Given the description of an element on the screen output the (x, y) to click on. 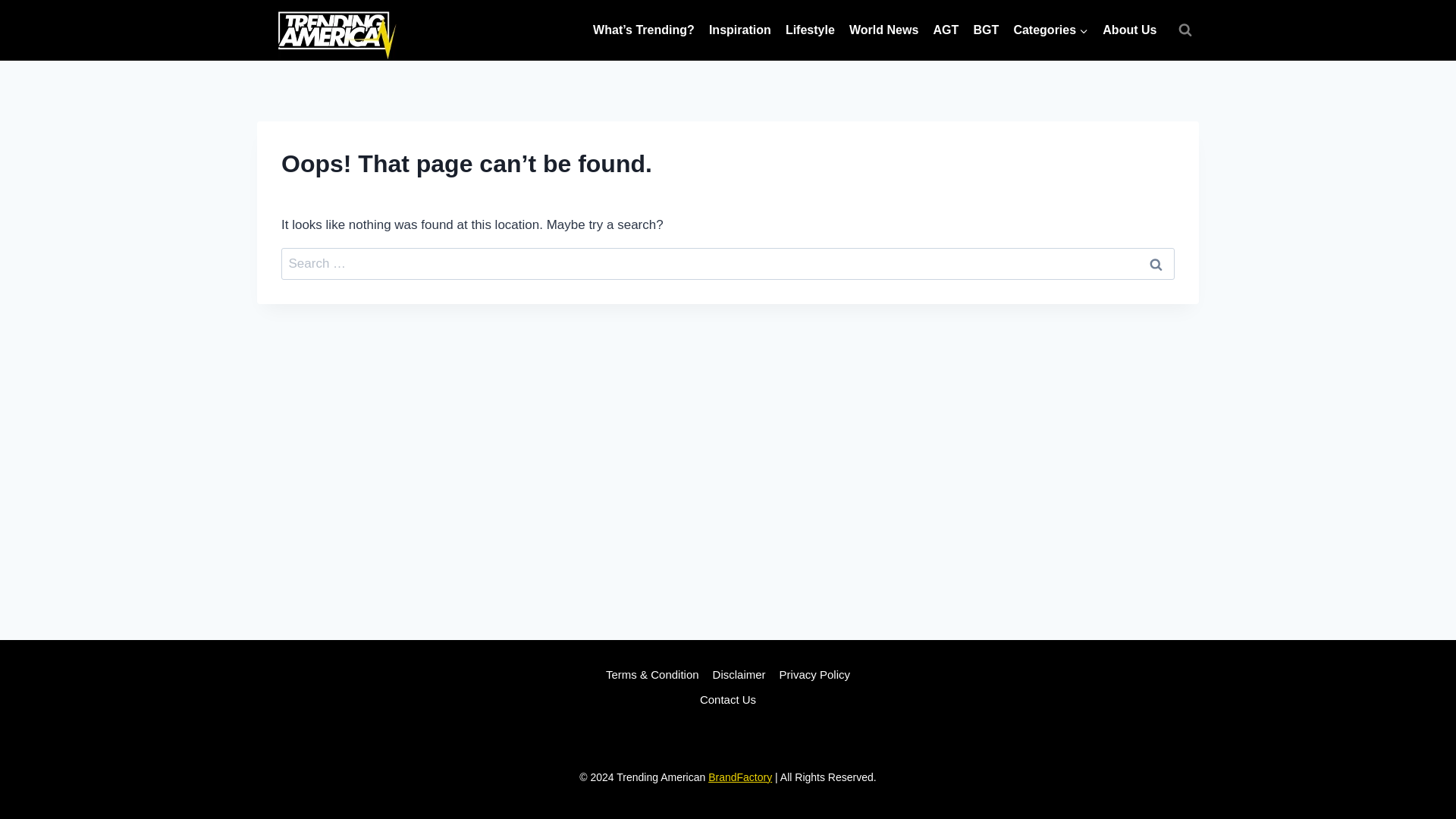
Disclaimer (739, 674)
BrandFactory (739, 776)
World News (882, 30)
Categories (1051, 30)
BGT (986, 30)
Contact Us (727, 699)
Search (1155, 264)
Search (1155, 264)
Privacy Policy (815, 674)
Search (1155, 264)
Lifestyle (809, 30)
About Us (1129, 30)
Inspiration (739, 30)
AGT (946, 30)
